Given the description of an element on the screen output the (x, y) to click on. 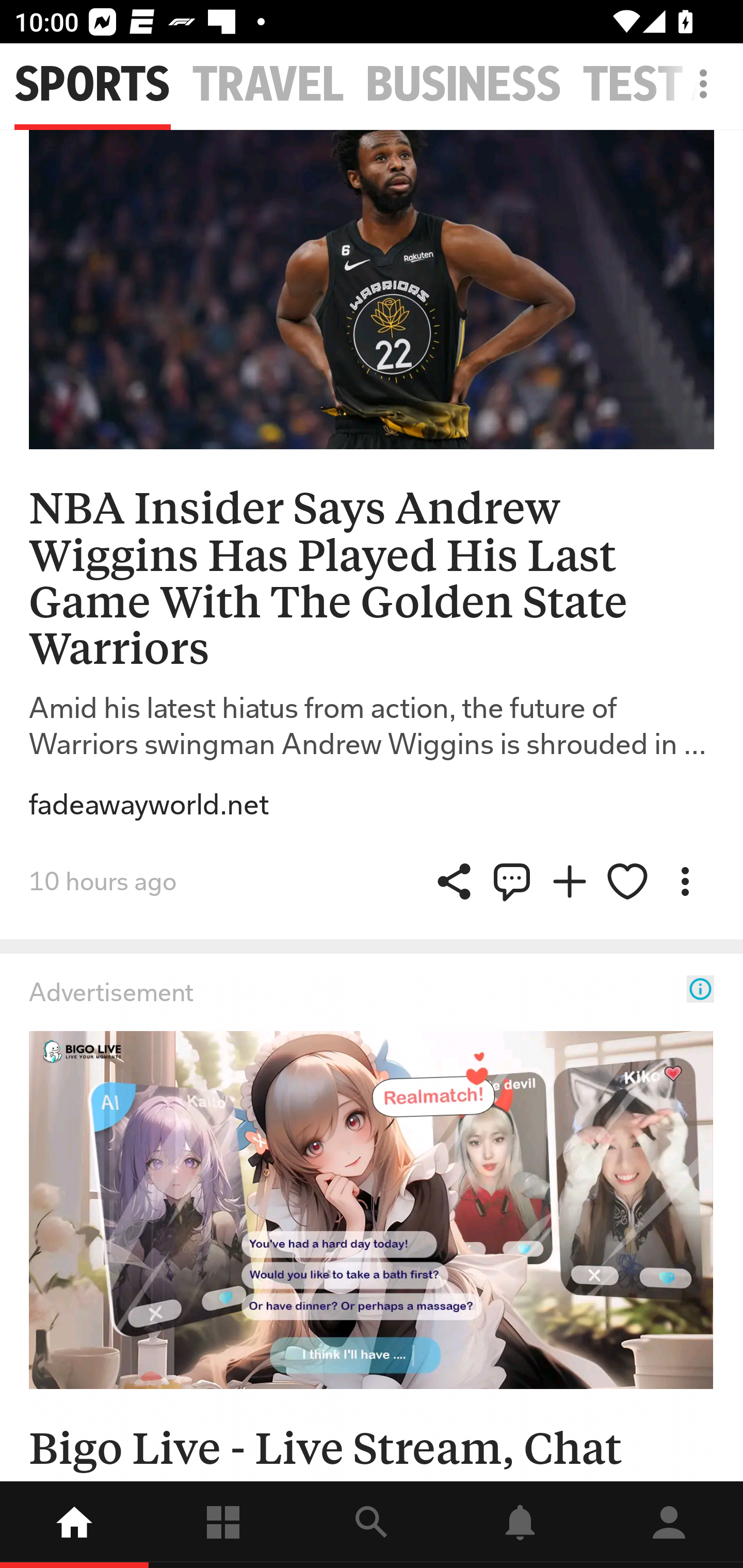
SPORTS (92, 84)
TRAVEL (268, 84)
BUSINESS (463, 84)
Edit Home (697, 83)
Share (453, 881)
Share (511, 881)
Flip into Magazine (569, 881)
Like (627, 881)
Options (685, 881)
Ad Choices Icon (700, 988)
home (74, 1524)
Following (222, 1524)
explore (371, 1524)
Notifications (519, 1524)
Profile (668, 1524)
